Given the description of an element on the screen output the (x, y) to click on. 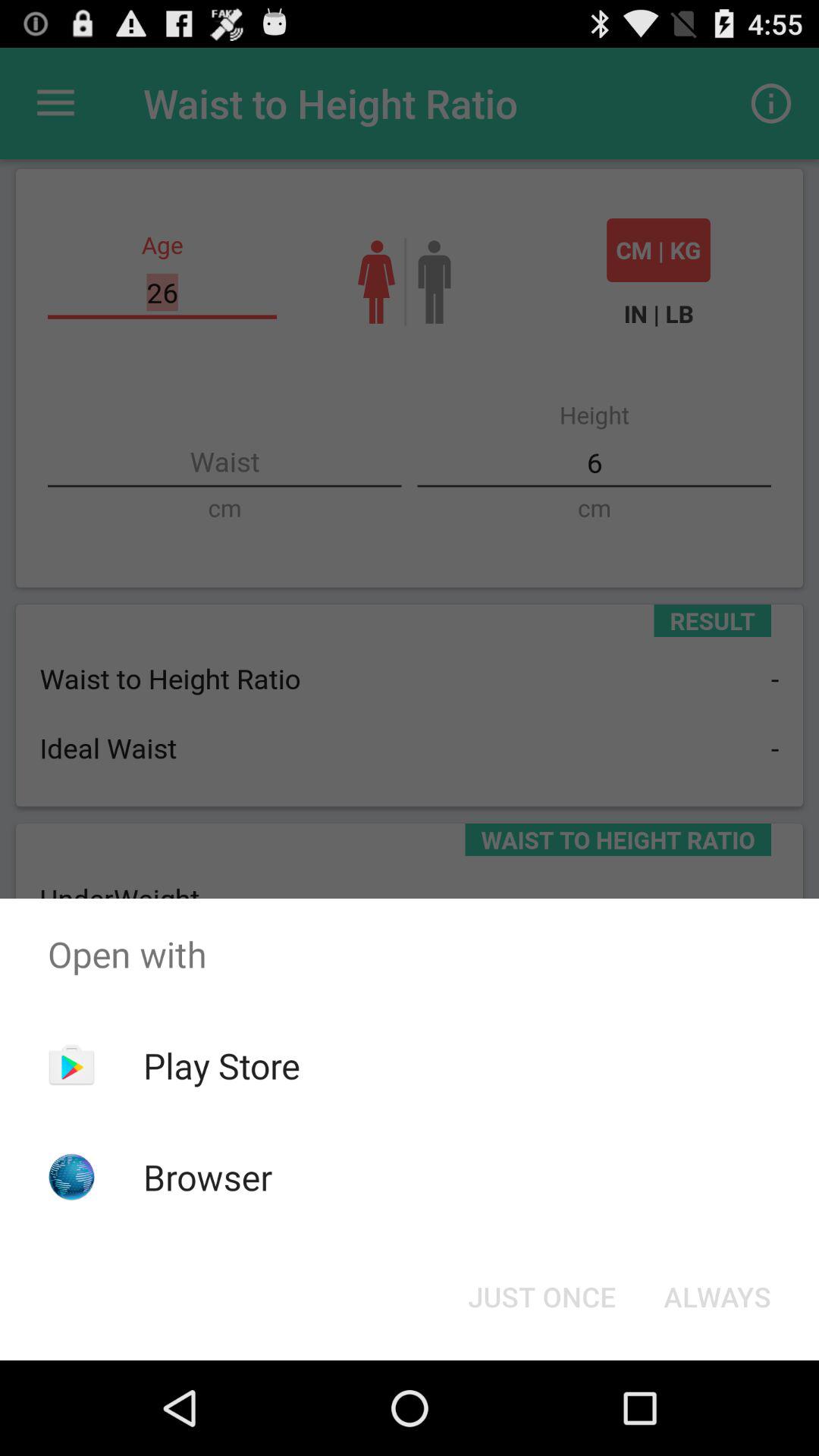
launch the just once button (541, 1296)
